Given the description of an element on the screen output the (x, y) to click on. 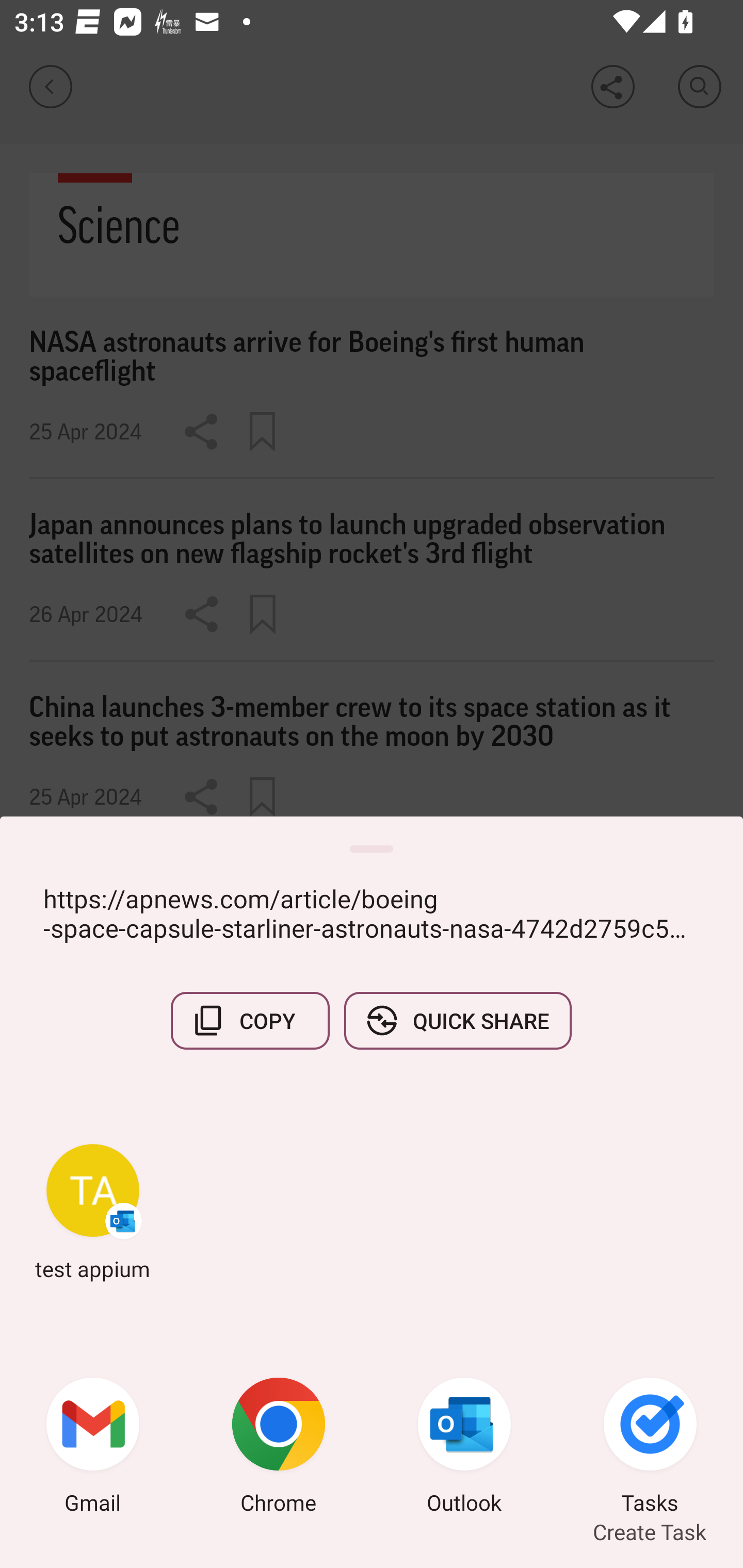
COPY (249, 1020)
QUICK SHARE (457, 1020)
test appium  Outlook test appium (92, 1212)
Gmail (92, 1448)
Chrome (278, 1448)
Outlook (464, 1448)
Tasks Create Task (650, 1448)
